Given the description of an element on the screen output the (x, y) to click on. 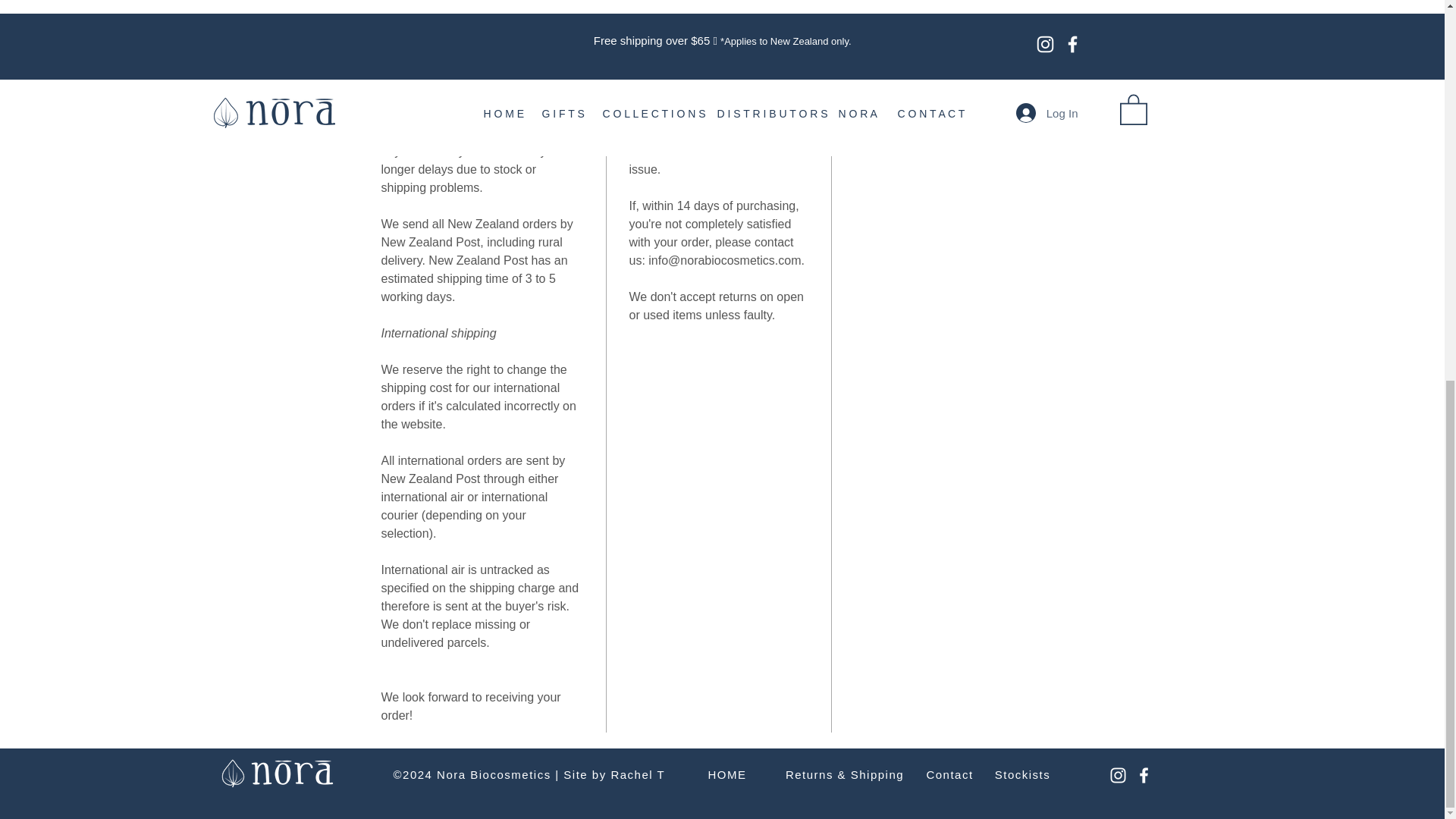
Stockists (1022, 774)
Contact (949, 774)
HOME (726, 774)
